Given the description of an element on the screen output the (x, y) to click on. 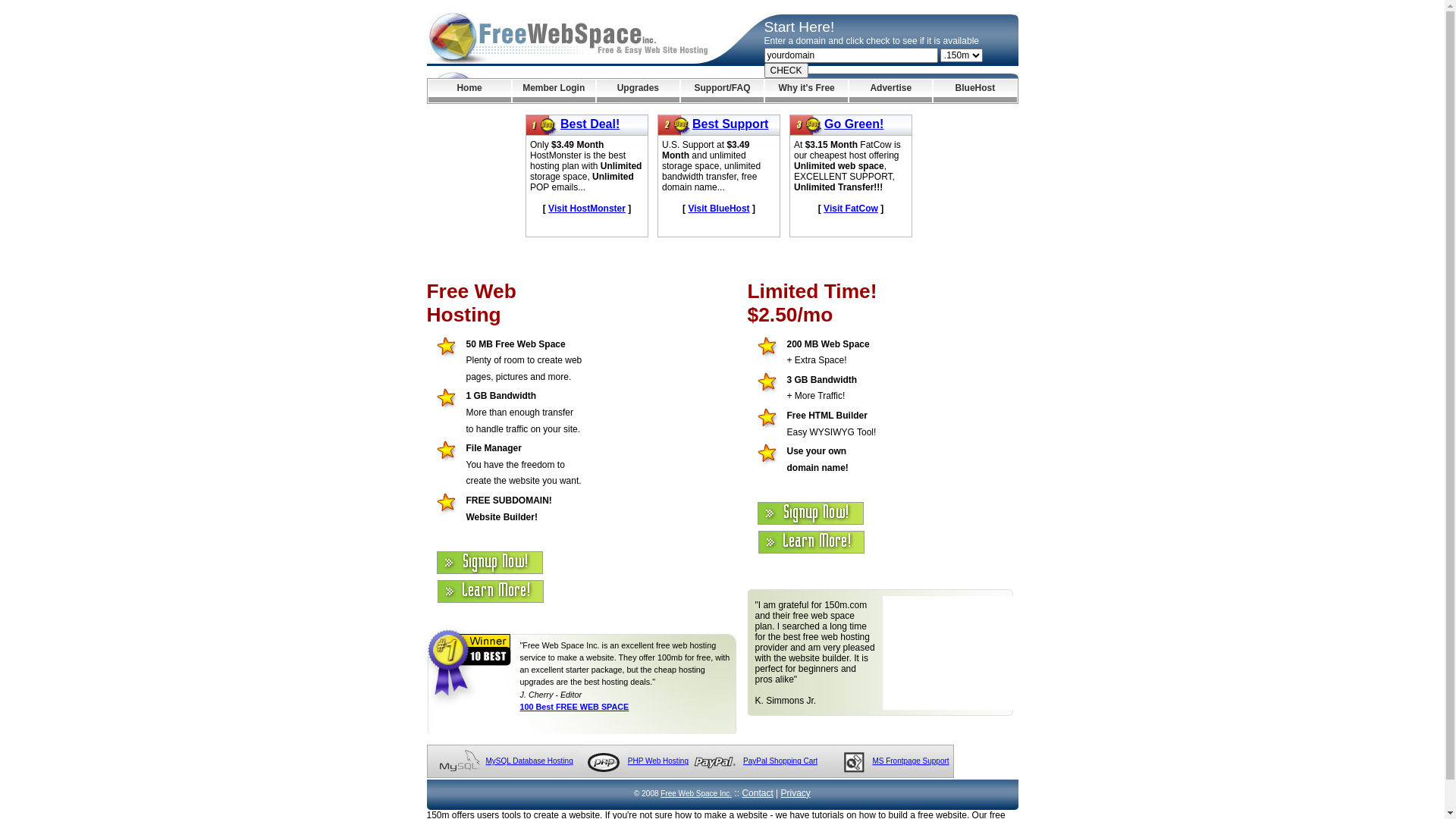
CHECK Element type: text (786, 70)
Free Web Space Inc. Element type: text (695, 793)
100 Best FREE WEB SPACE Element type: text (574, 706)
PHP Web Hosting Element type: text (657, 760)
Contact Element type: text (756, 792)
Support/FAQ Element type: text (721, 90)
PayPal Shopping Cart Element type: text (780, 760)
Advertise Element type: text (890, 90)
Privacy Element type: text (795, 792)
Upgrades Element type: text (637, 90)
MySQL Database Hosting Element type: text (528, 760)
MS Frontpage Support Element type: text (910, 760)
Member Login Element type: text (553, 90)
BlueHost Element type: text (974, 90)
Why it's Free Element type: text (806, 90)
Home Element type: text (468, 90)
